Given the description of an element on the screen output the (x, y) to click on. 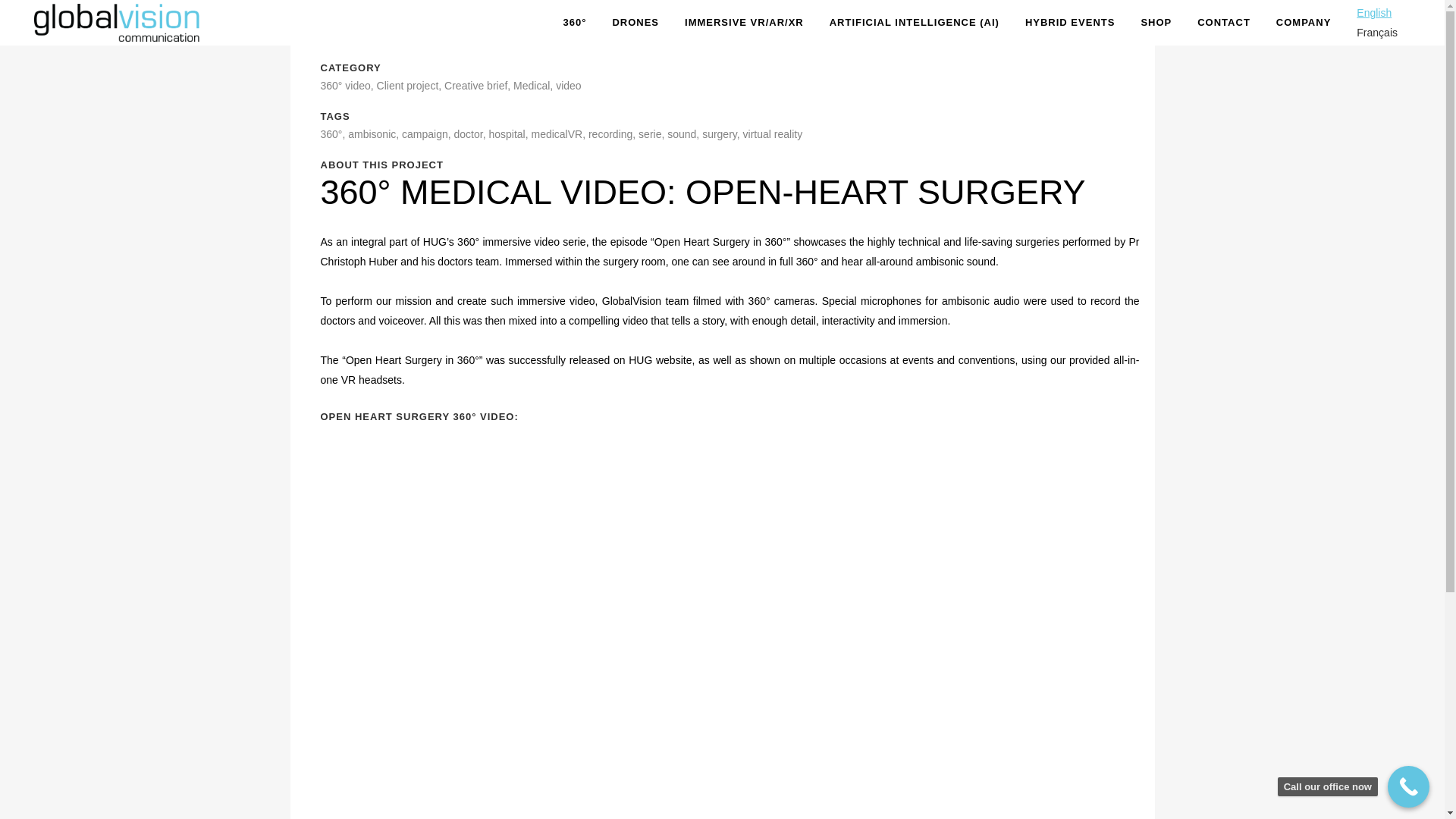
DRONES (634, 22)
CONTACT (1224, 22)
English (1373, 12)
HYBRID EVENTS (1068, 22)
SHOP (1155, 22)
COMPANY (1303, 22)
